Given the description of an element on the screen output the (x, y) to click on. 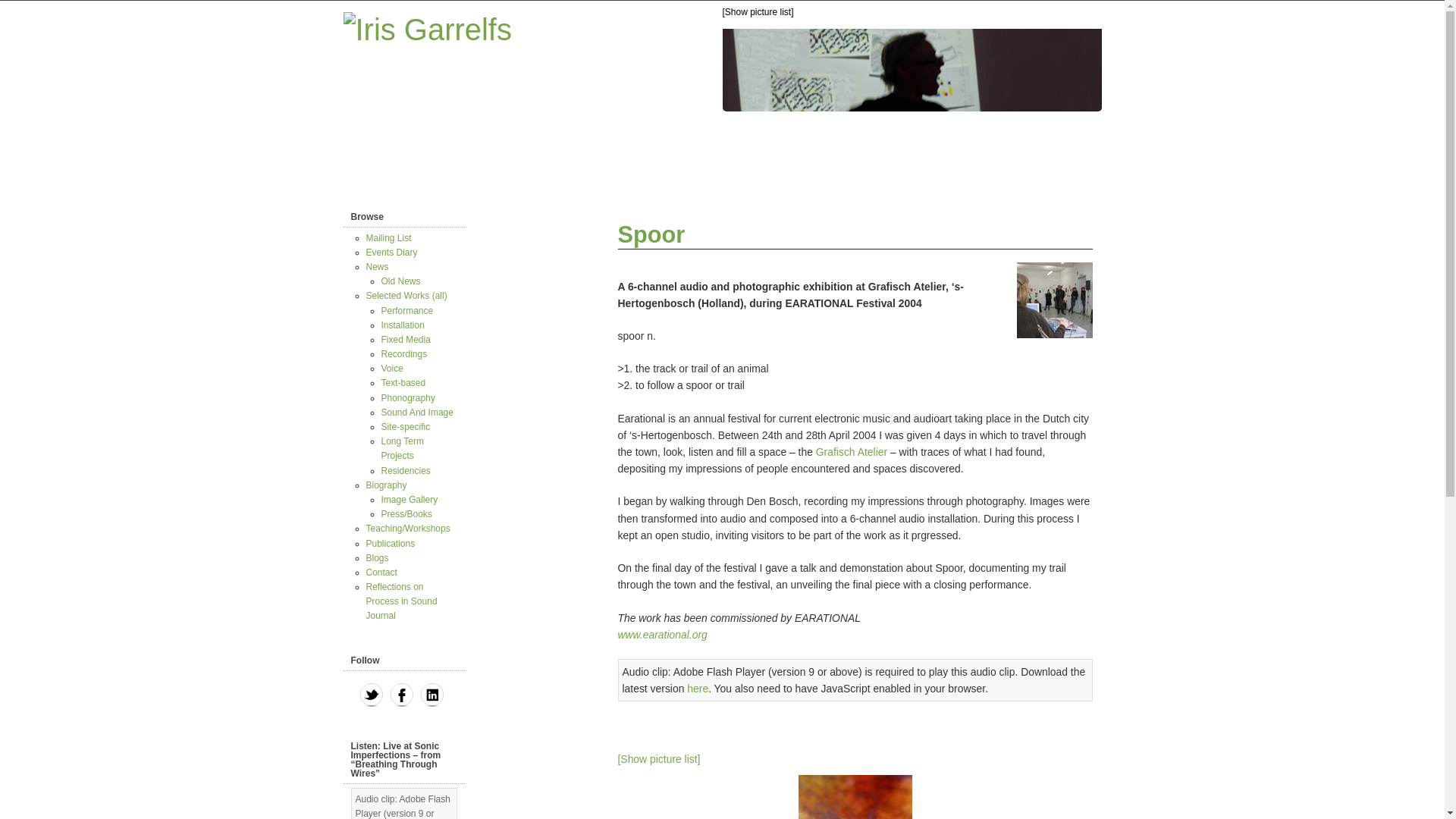
Spoor (650, 234)
Phonography (406, 398)
Sound And Image (416, 412)
Blogs (376, 557)
News (376, 266)
Long Term Projects (401, 448)
Recordings (403, 353)
Image Gallery (409, 499)
Voice (391, 368)
Performance (406, 310)
